Given the description of an element on the screen output the (x, y) to click on. 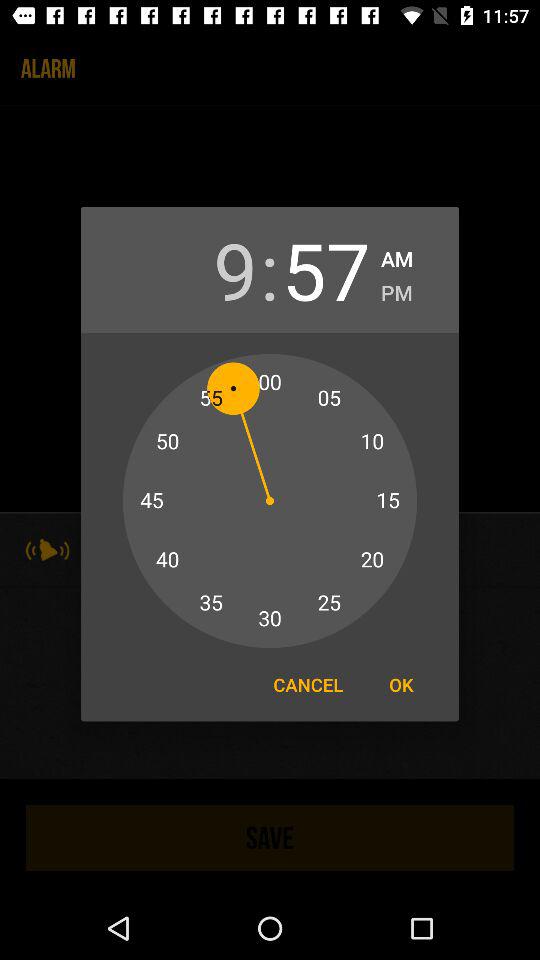
swipe to the 57 item (325, 269)
